Given the description of an element on the screen output the (x, y) to click on. 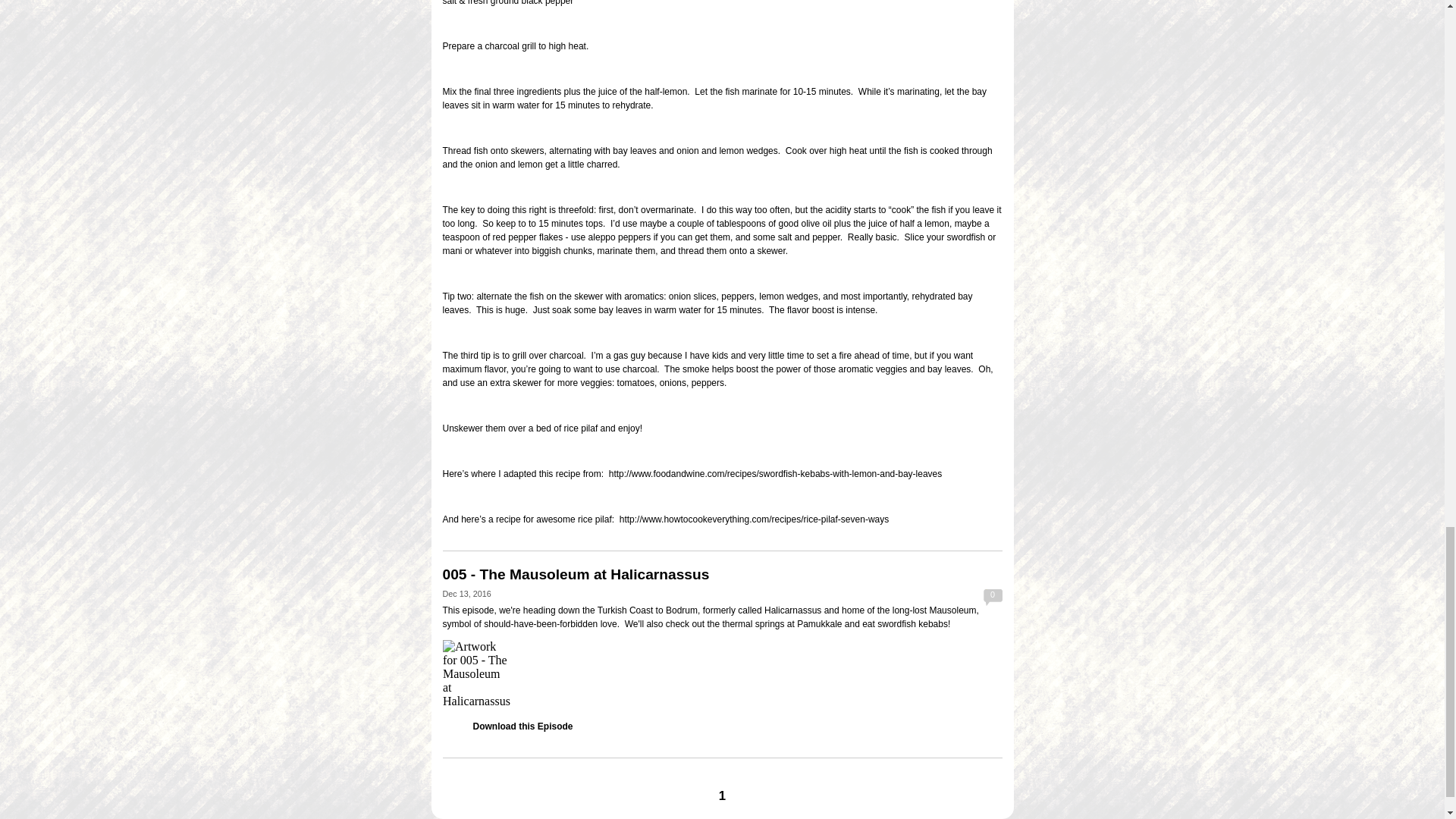
Libsyn Player (722, 673)
